Given the description of an element on the screen output the (x, y) to click on. 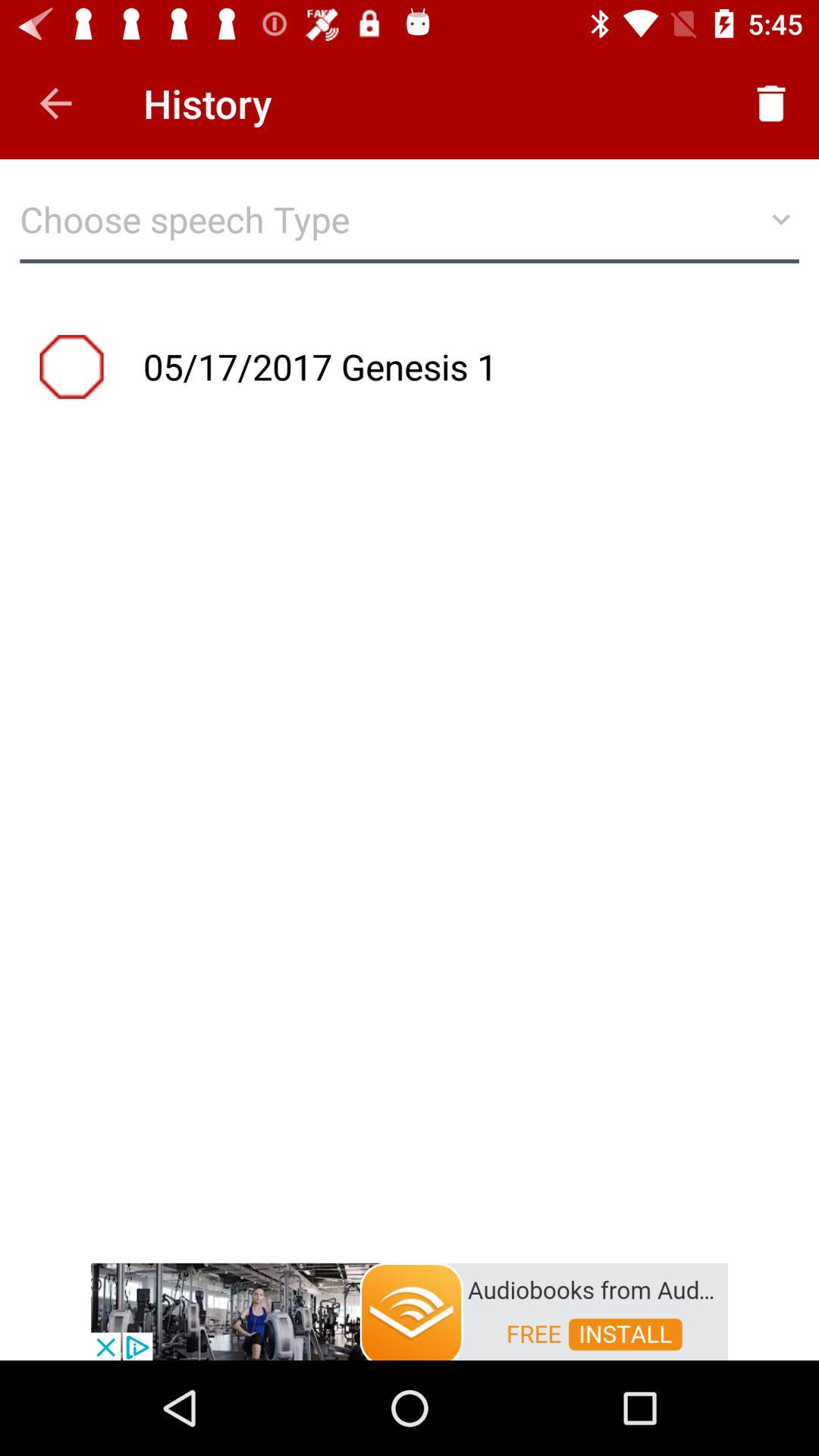
go to audiobooks app (409, 1310)
